Given the description of an element on the screen output the (x, y) to click on. 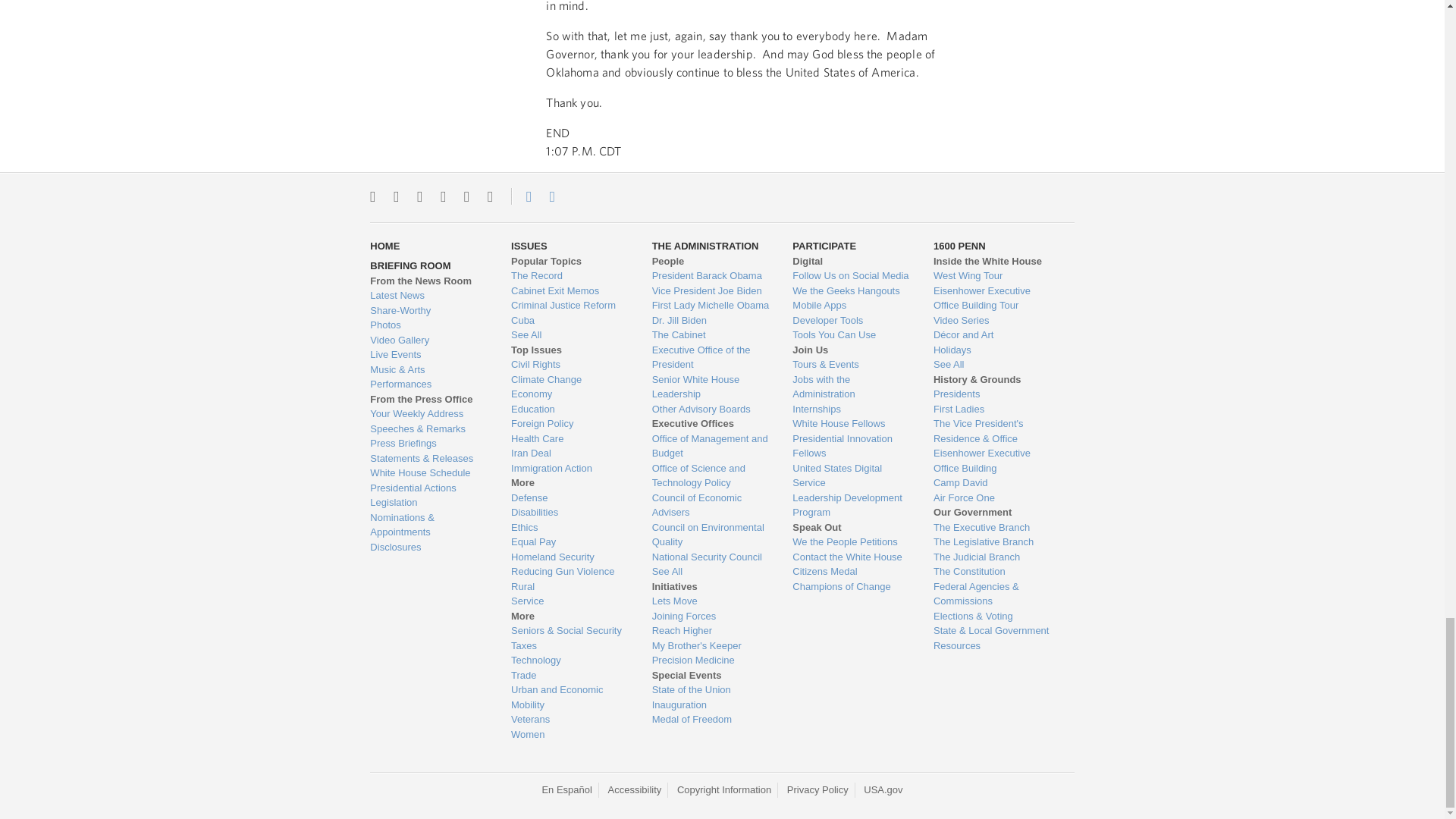
Read the latest blog posts from 1600 Pennsylvania Ave (428, 295)
Check out the most popular infographics and videos (428, 310)
Contact the Whitehouse. (521, 196)
Watch behind-the-scenes videos and more (428, 340)
View the photo of the day and other galleries (428, 324)
